Given the description of an element on the screen output the (x, y) to click on. 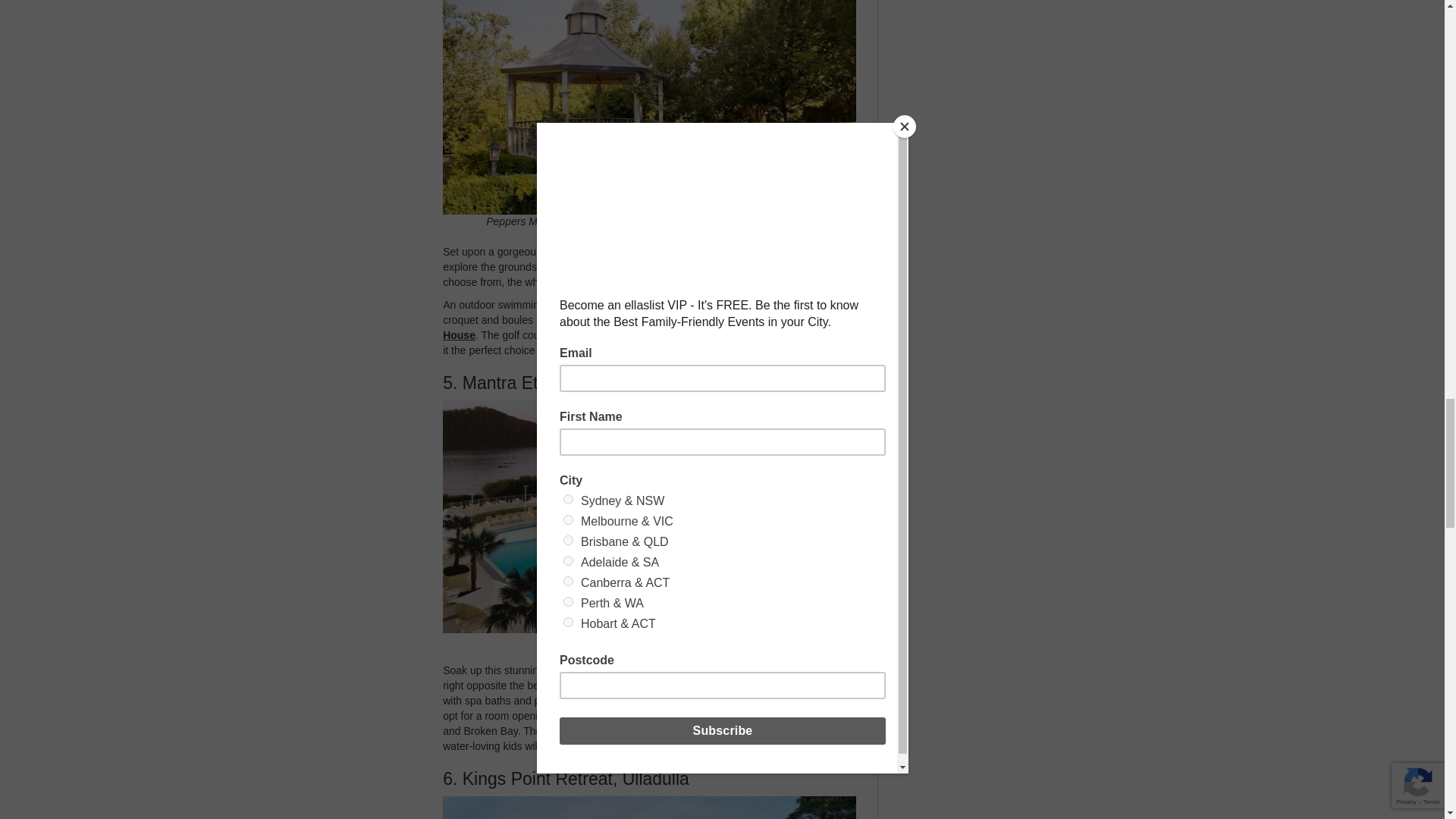
Peppers Manor House (671, 251)
Peppers Manor House (643, 327)
Mantra Ettalong (703, 746)
Mantra Ettalong (602, 685)
